Given the description of an element on the screen output the (x, y) to click on. 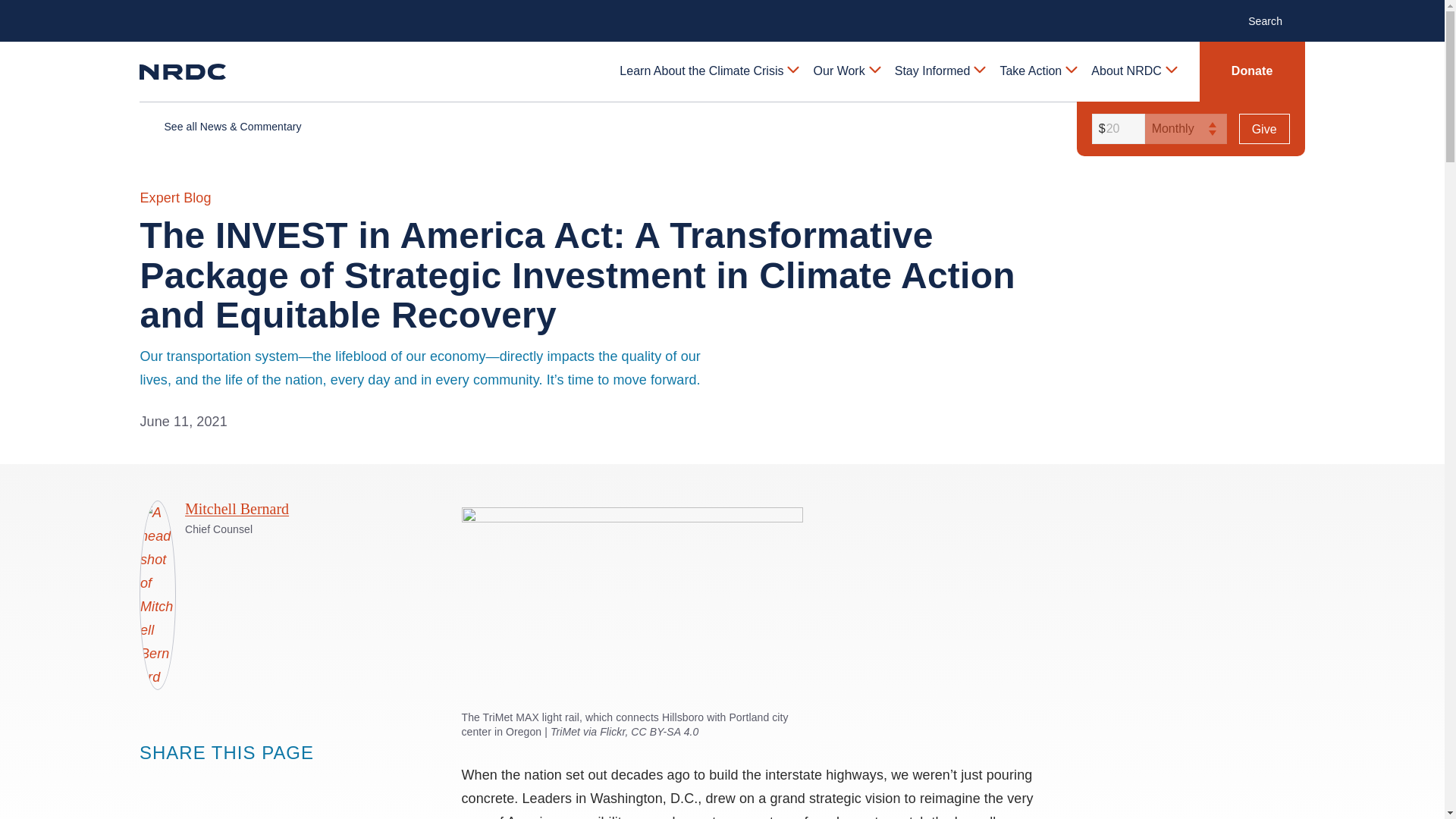
Skip to main content (721, 12)
20 (1116, 128)
Share this page block (210, 780)
Learn About the Climate Crisis (707, 71)
Take Action (1036, 71)
Stay Informed (939, 71)
Our Work (846, 71)
Search (1272, 19)
Share this page block (149, 780)
Share this page block (180, 780)
